Given the description of an element on the screen output the (x, y) to click on. 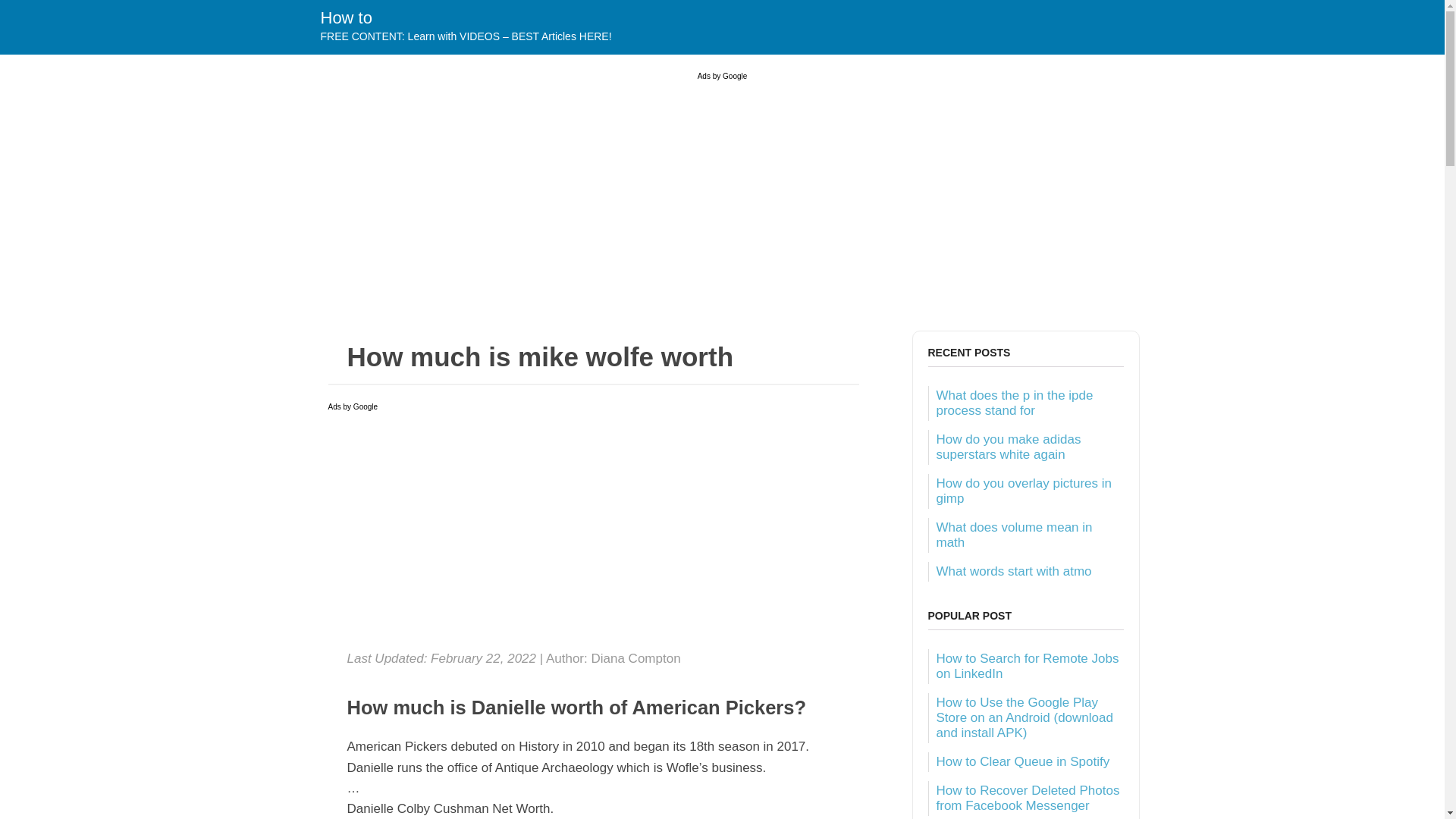
Diana Compton (635, 658)
Advertisement (593, 531)
